Given the description of an element on the screen output the (x, y) to click on. 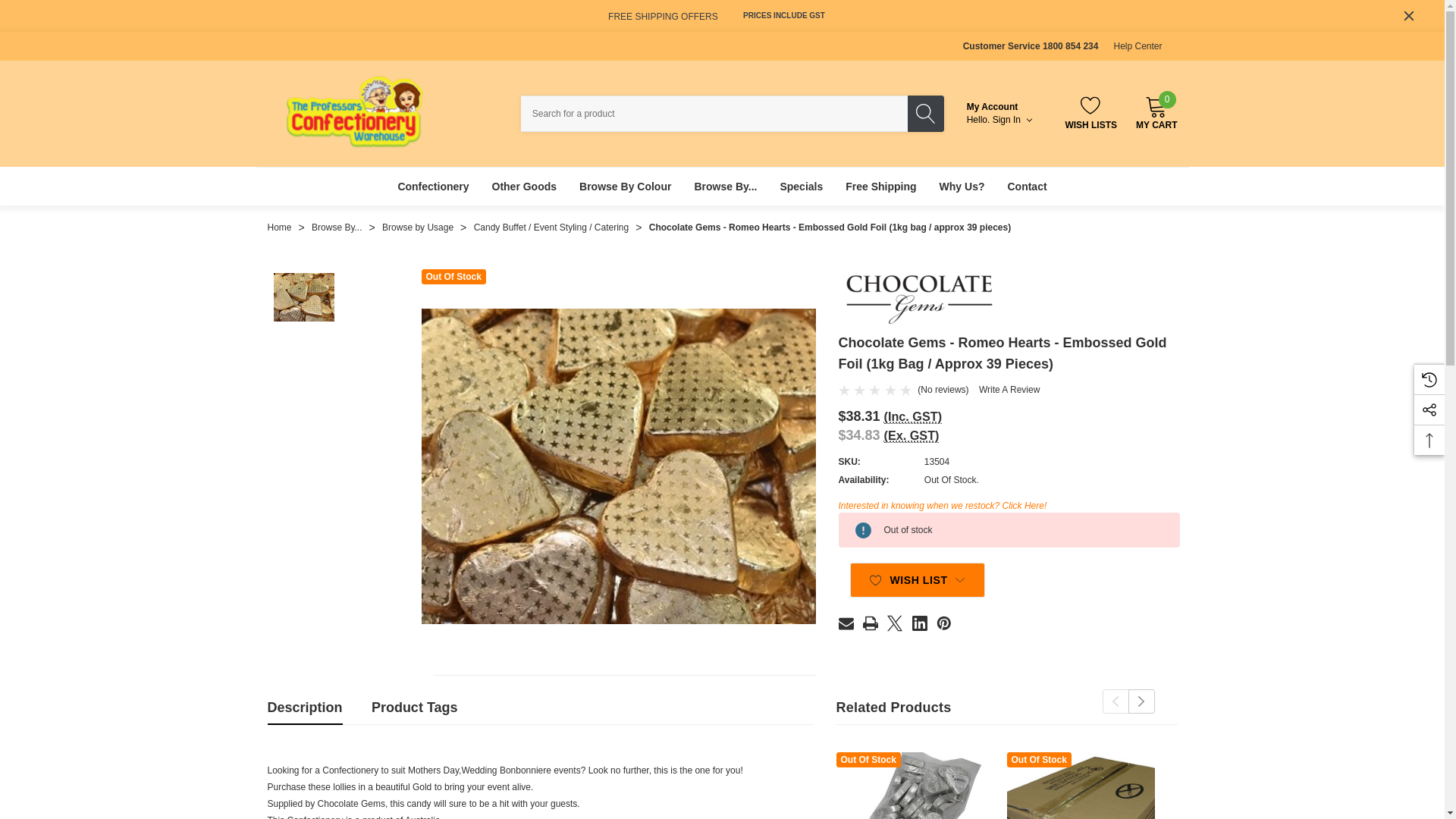
YOUR CART YOUR CART (1155, 106)
Customer Service 1800 854 234 (1030, 45)
The Professors Online Lolly Shop and Confectionery Warehouse (355, 111)
Excluding Tax (911, 435)
Customer Service 1800 854 234 (1030, 45)
Chocolate Gems (917, 295)
WISH LISTS (1090, 112)
Help Center (1155, 112)
icon chevron down (1137, 45)
